Given the description of an element on the screen output the (x, y) to click on. 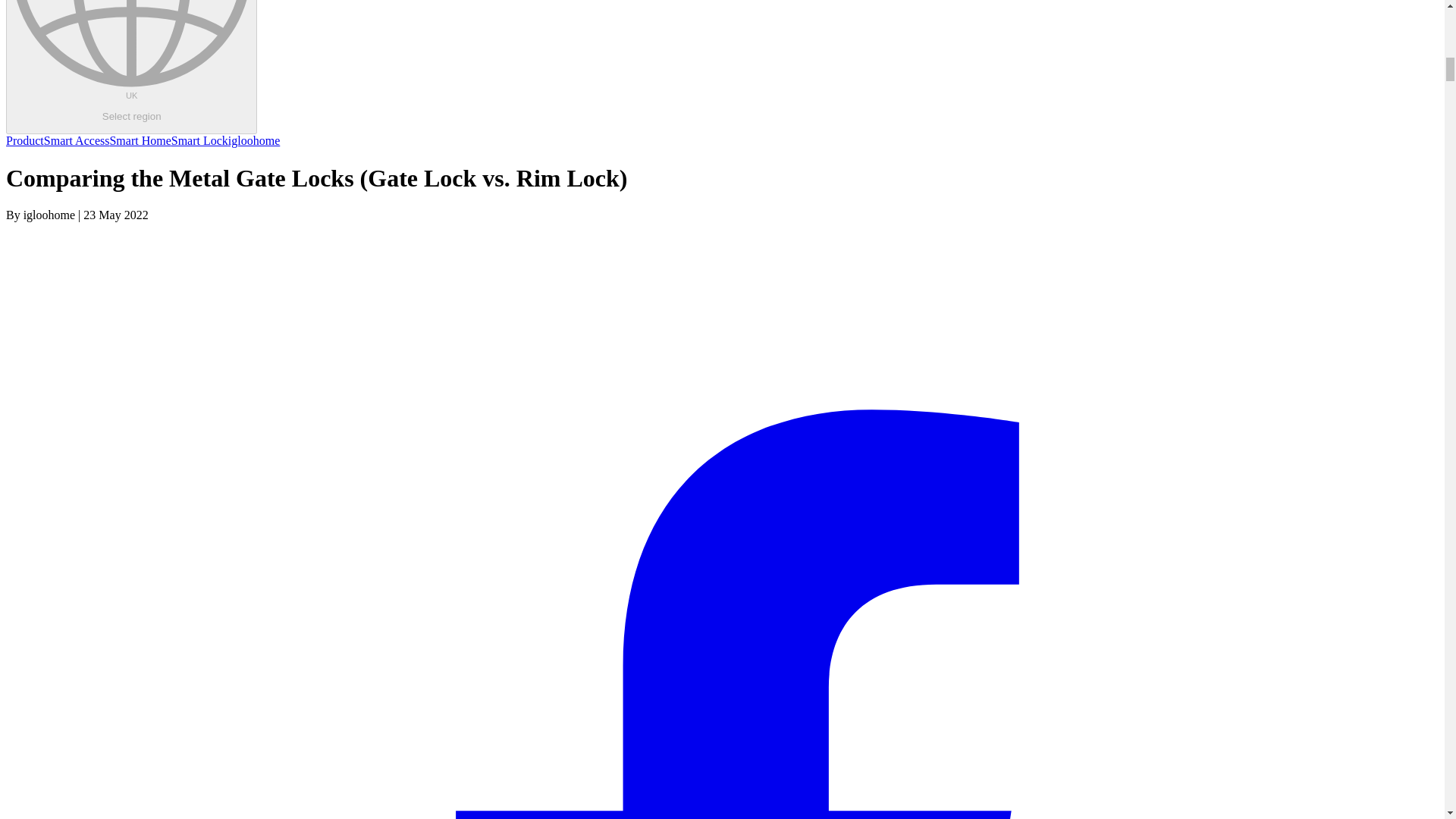
Smart Home (139, 140)
igloohome (253, 140)
Smart Access (76, 140)
Smart Lock (199, 140)
Product (131, 67)
